Given the description of an element on the screen output the (x, y) to click on. 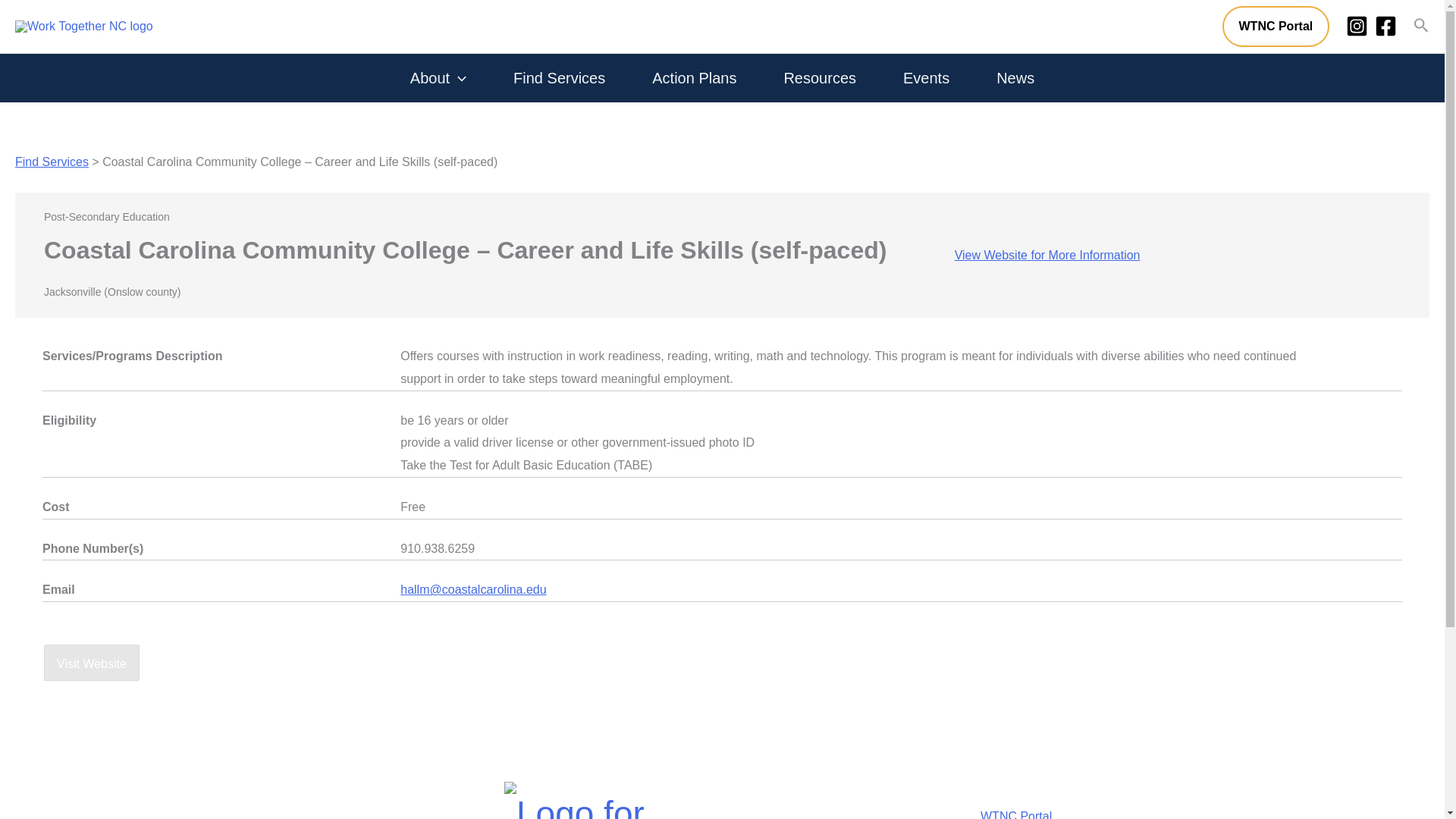
WTNC Portal (1276, 25)
Action Plans (694, 77)
Find Services (51, 161)
View Website for More Information (1047, 254)
Events (925, 77)
Find Services (558, 77)
About (437, 77)
Resources (819, 77)
Visit Website (91, 662)
News (1015, 77)
Visit Website (91, 662)
